Given the description of an element on the screen output the (x, y) to click on. 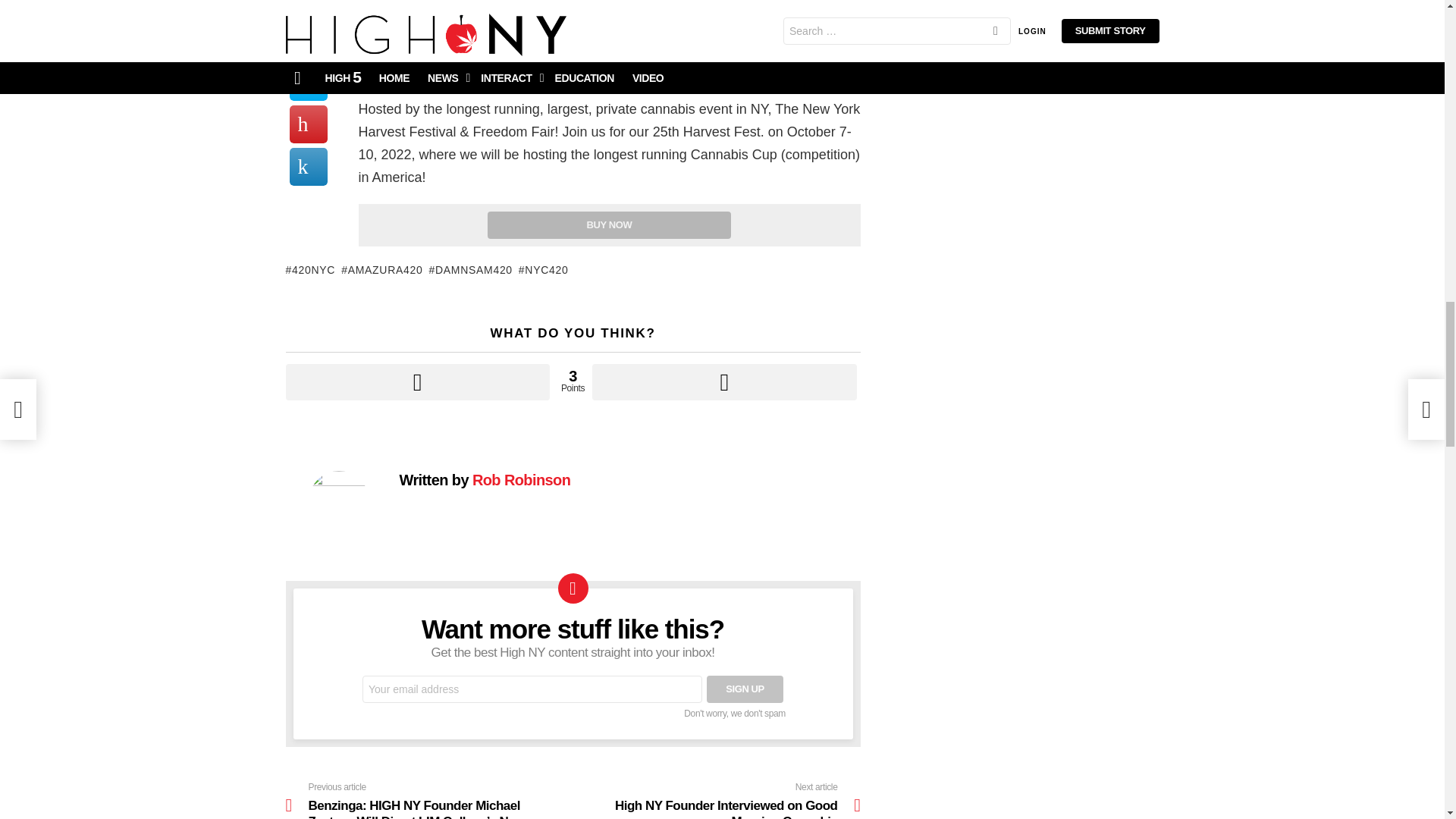
Sign up (744, 688)
